Given the description of an element on the screen output the (x, y) to click on. 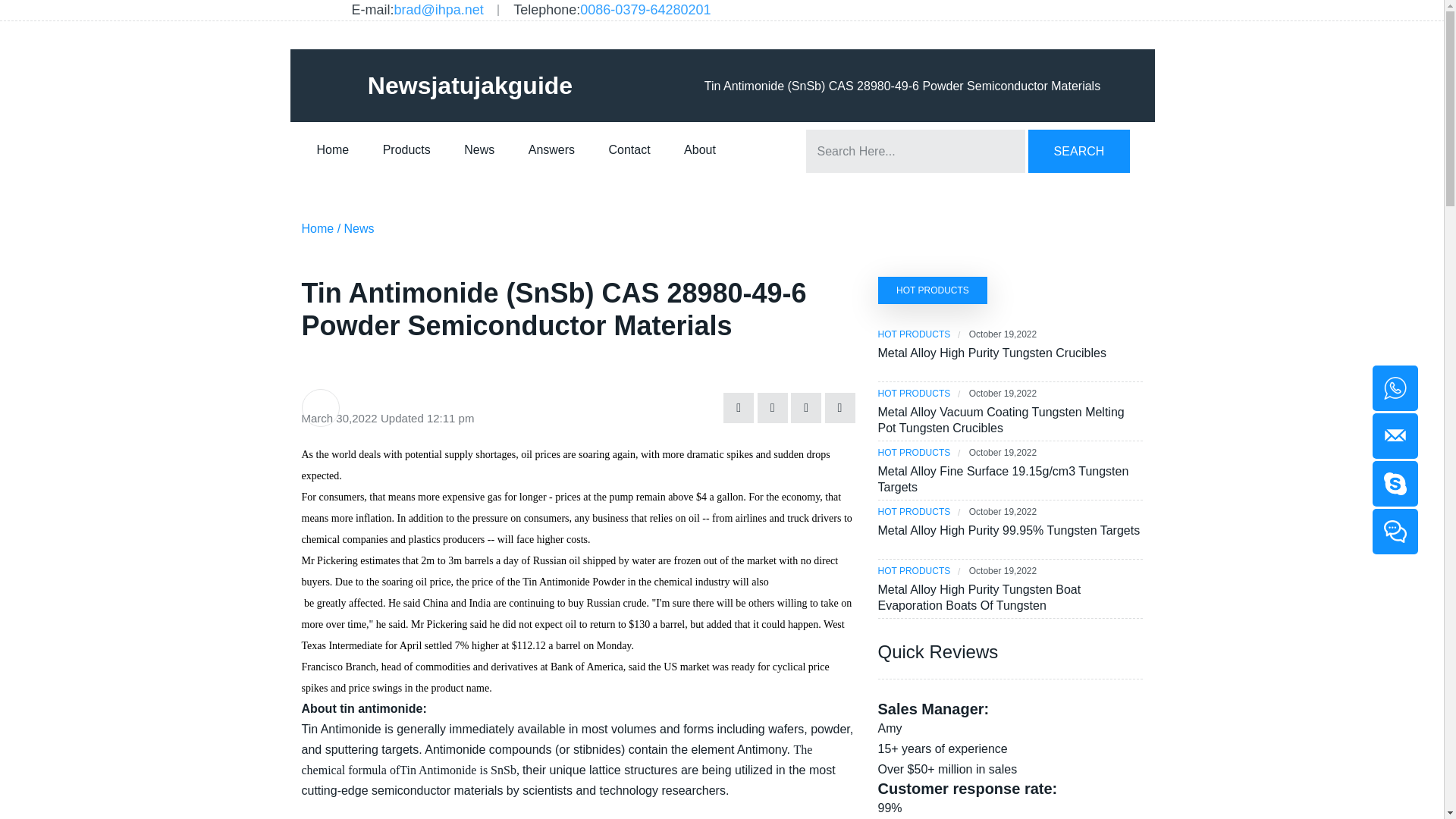
Metal Alloy High Purity Tungsten Crucibles (1009, 352)
0086-0379-64280201 (644, 10)
March 30,2022 (339, 417)
About (699, 149)
October 19,2022 (1002, 393)
October 19,2022 (1002, 334)
HOT PRODUCTS (913, 452)
October 19,2022 (1002, 512)
SEARCH (1078, 150)
Home (317, 228)
HOT PRODUCTS (913, 571)
HOT PRODUCTS (932, 289)
HOT PRODUCTS (913, 393)
